Given the description of an element on the screen output the (x, y) to click on. 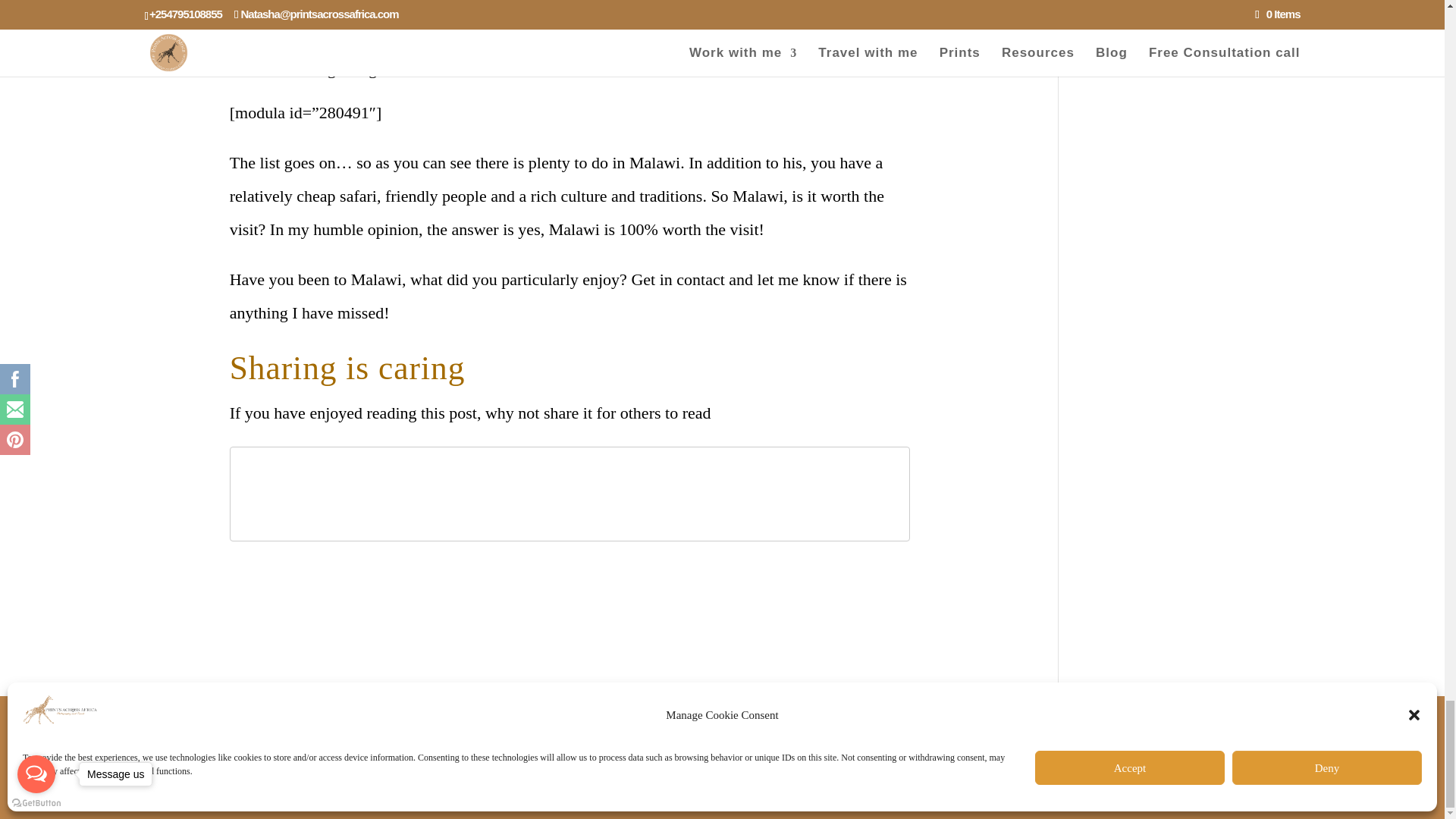
Follow on Youtube (1158, 713)
Follow on Facebook (1097, 713)
Prints Across Africa Logo (722, 739)
Follow on Instagram (1128, 713)
